Given the description of an element on the screen output the (x, y) to click on. 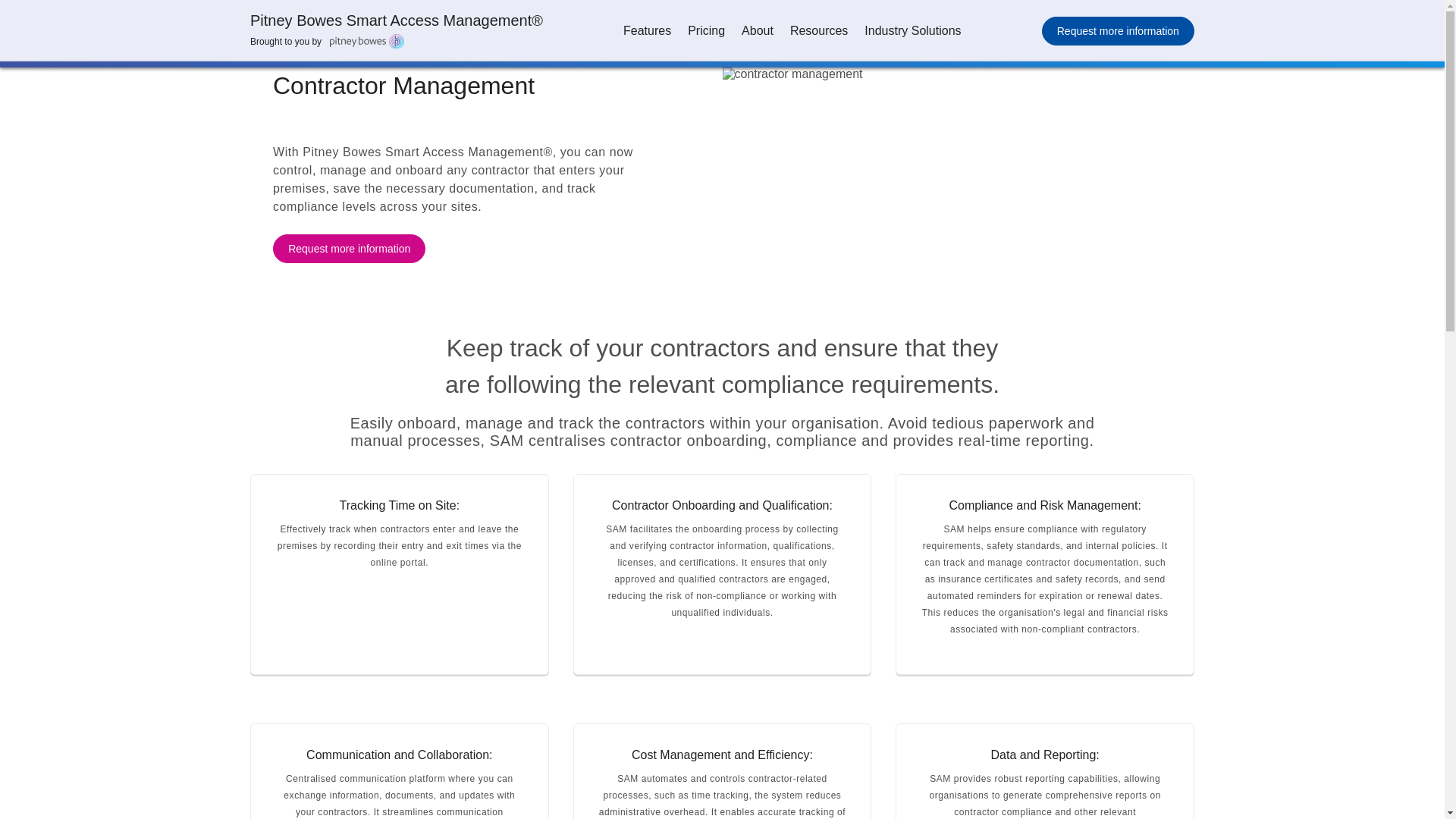
Pricing (706, 31)
Features (646, 31)
Request more information (349, 248)
Request more information (349, 248)
Resources (818, 31)
About (757, 31)
Request more information (1117, 30)
Request more information (1117, 30)
Industry Solutions (912, 31)
